Given the description of an element on the screen output the (x, y) to click on. 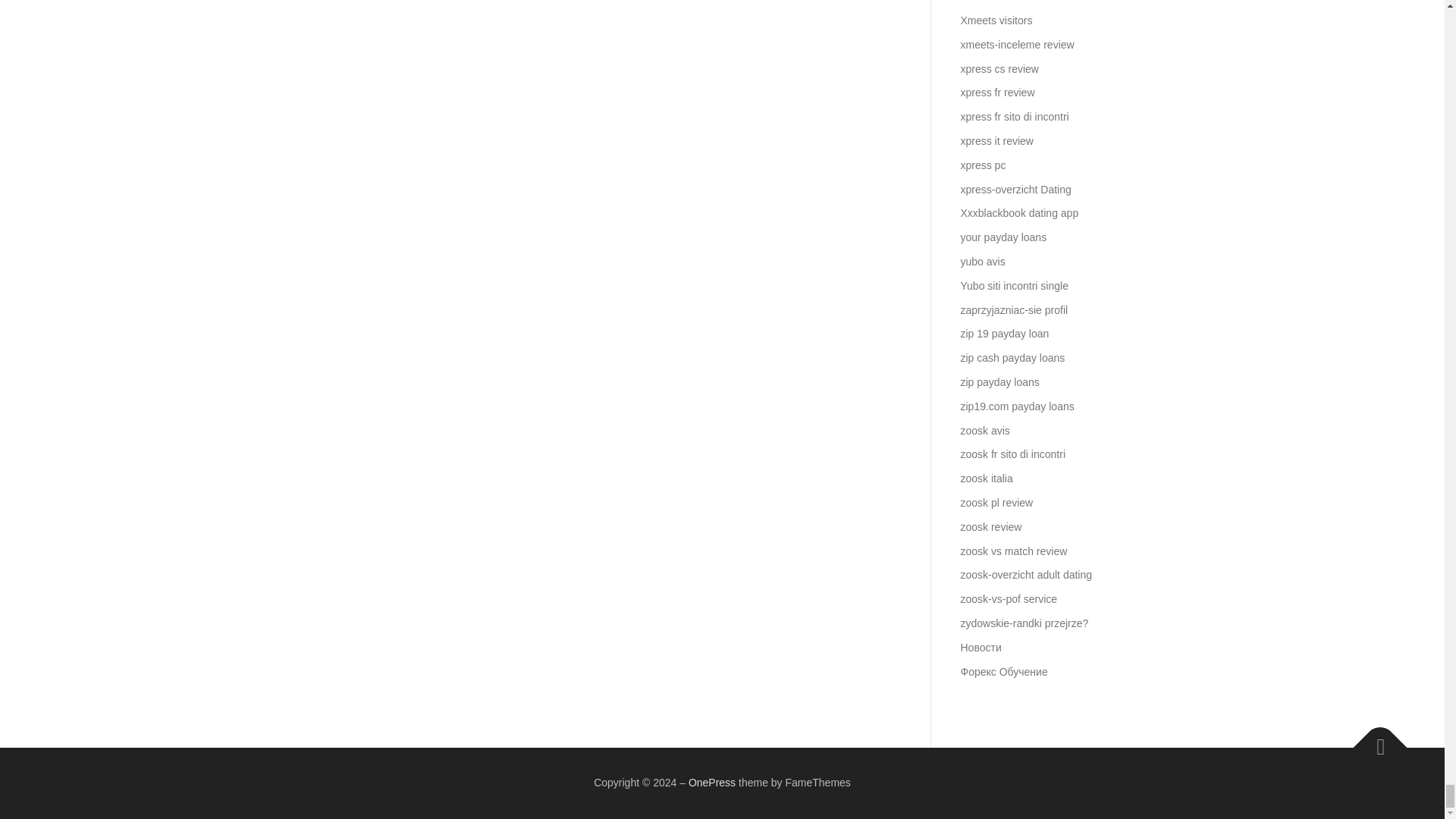
Back To Top (1372, 740)
